Given the description of an element on the screen output the (x, y) to click on. 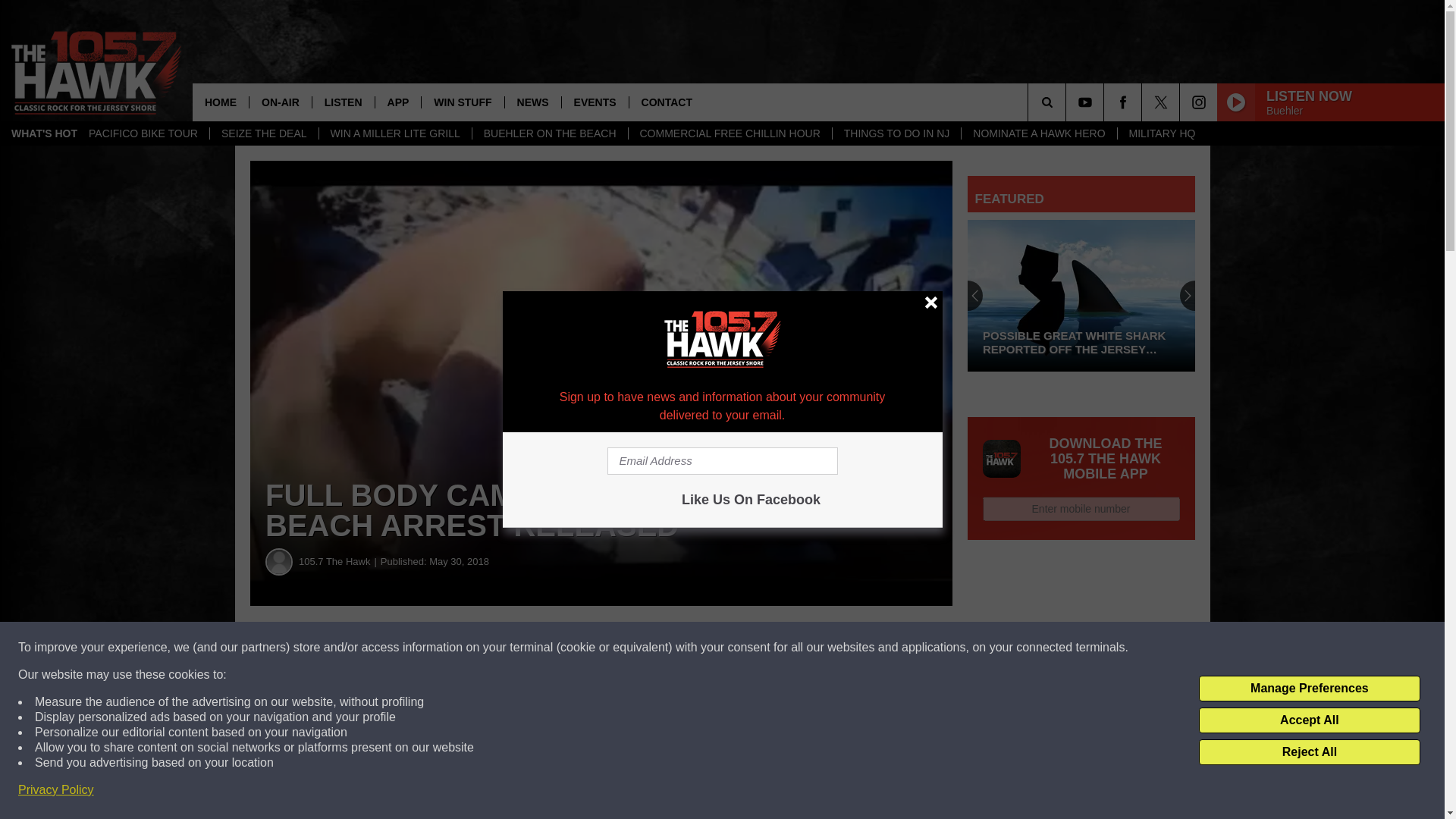
HOME (220, 102)
Privacy Policy (55, 789)
SEIZE THE DEAL (263, 133)
Manage Preferences (1309, 688)
WIN A MILLER LITE GRILL (394, 133)
ON-AIR (279, 102)
Share on Facebook (460, 647)
SEARCH (1068, 102)
PACIFICO BIKE TOUR (143, 133)
COMMERCIAL FREE CHILLIN HOUR (729, 133)
MILITARY HQ (1161, 133)
WIN STUFF (461, 102)
BUEHLER ON THE BEACH (549, 133)
Email Address (722, 461)
APP (398, 102)
